Given the description of an element on the screen output the (x, y) to click on. 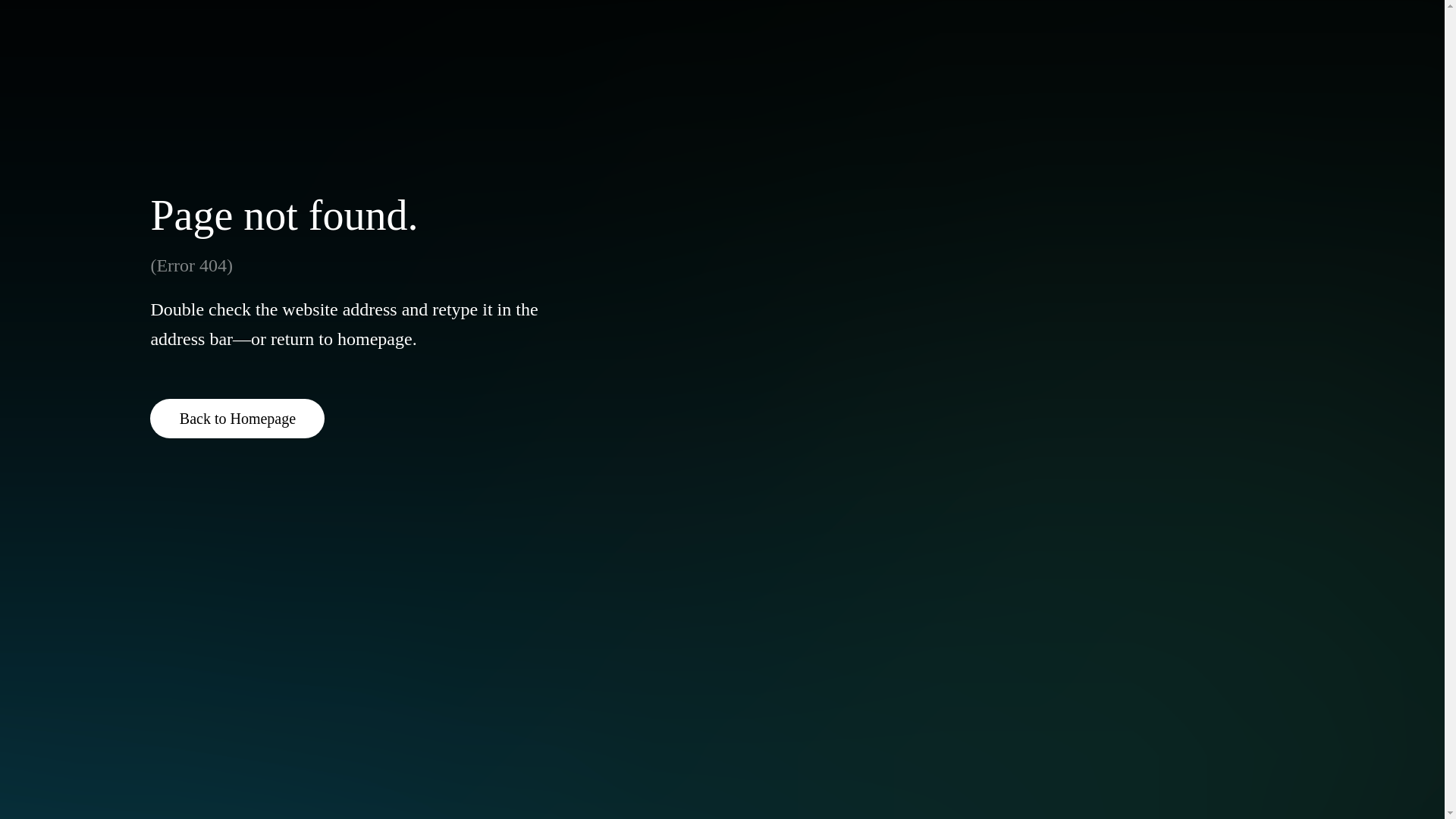
Back to Homepage (236, 418)
